Given the description of an element on the screen output the (x, y) to click on. 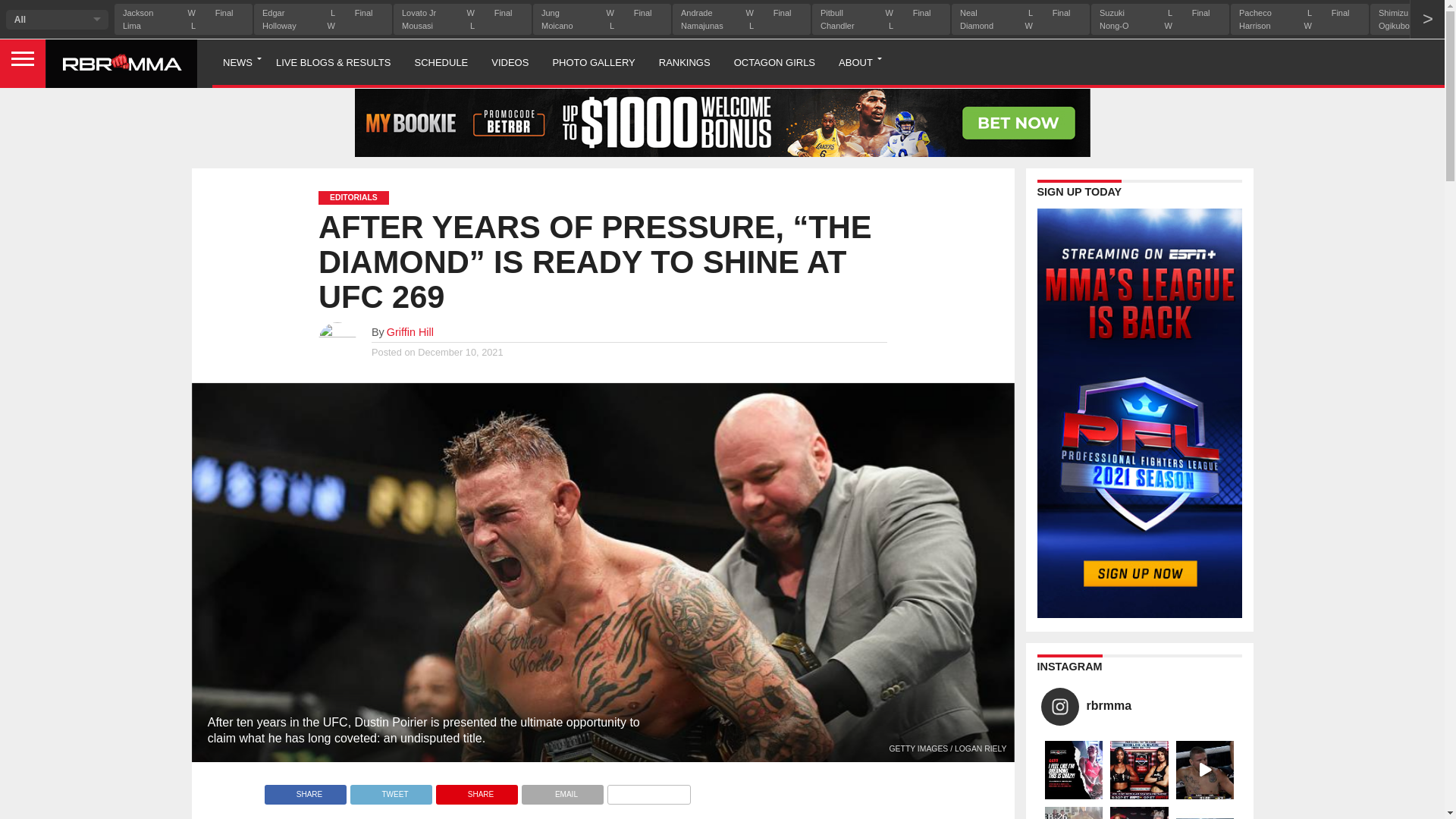
Posts by Griffin Hill (410, 331)
Share on Facebook (305, 789)
Tweet This Post (390, 789)
Pin This Post (476, 789)
